Given the description of an element on the screen output the (x, y) to click on. 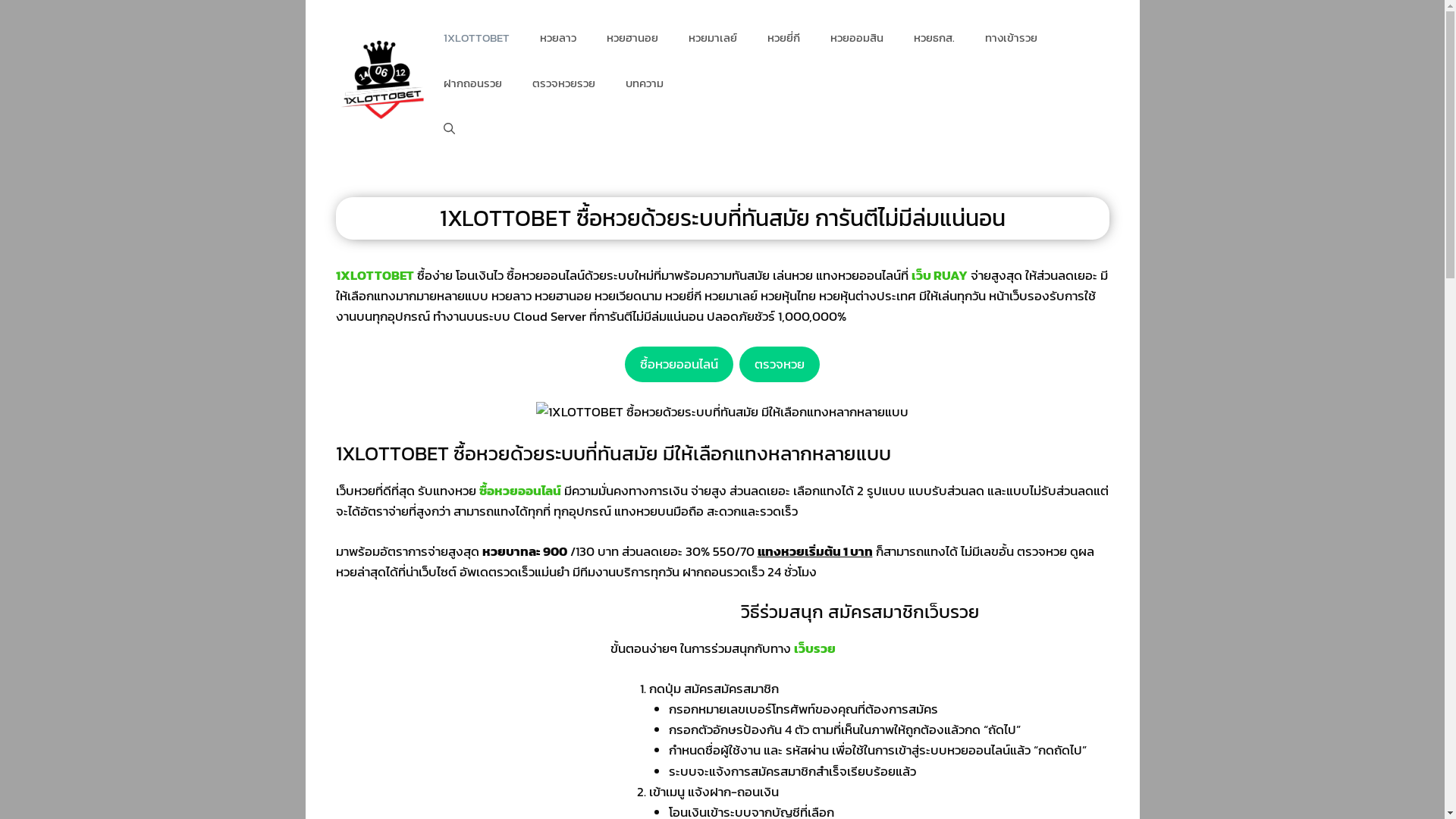
1XLOTTOBET Element type: text (476, 37)
1XLOTTOBET Element type: text (374, 275)
